Given the description of an element on the screen output the (x, y) to click on. 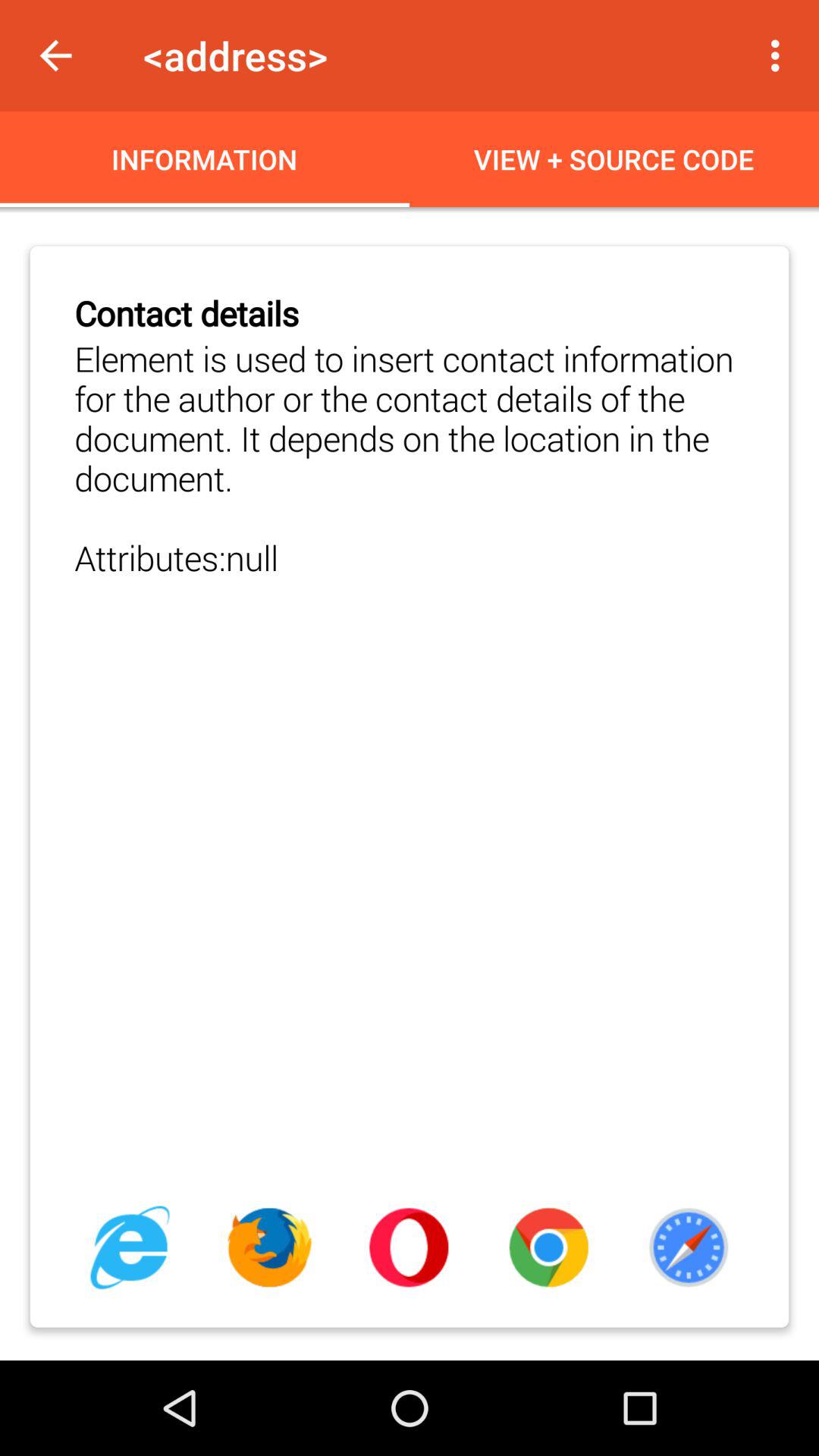
press app to the right of <address> item (779, 55)
